Given the description of an element on the screen output the (x, y) to click on. 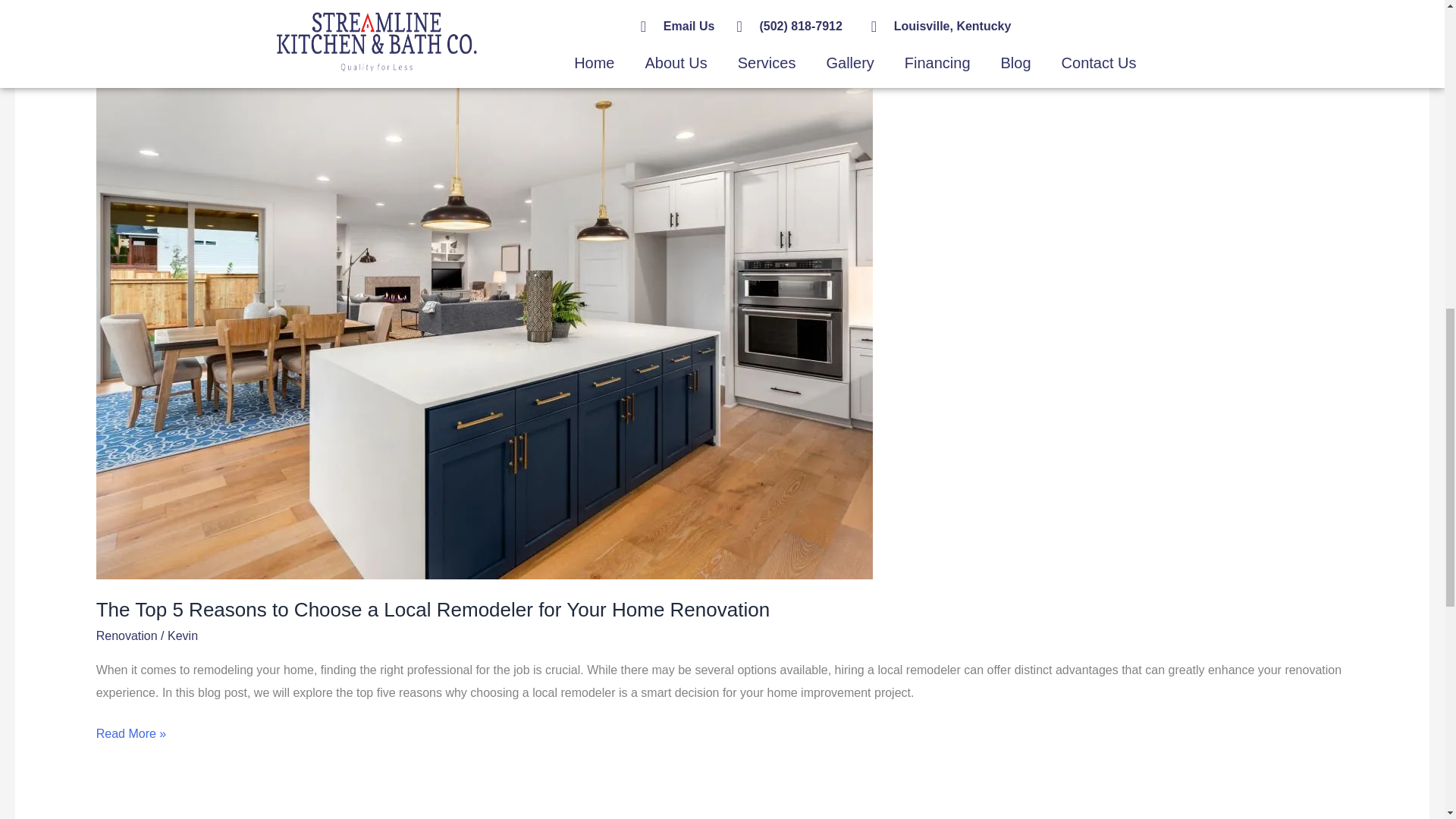
View all posts by Kevin (182, 635)
